Given the description of an element on the screen output the (x, y) to click on. 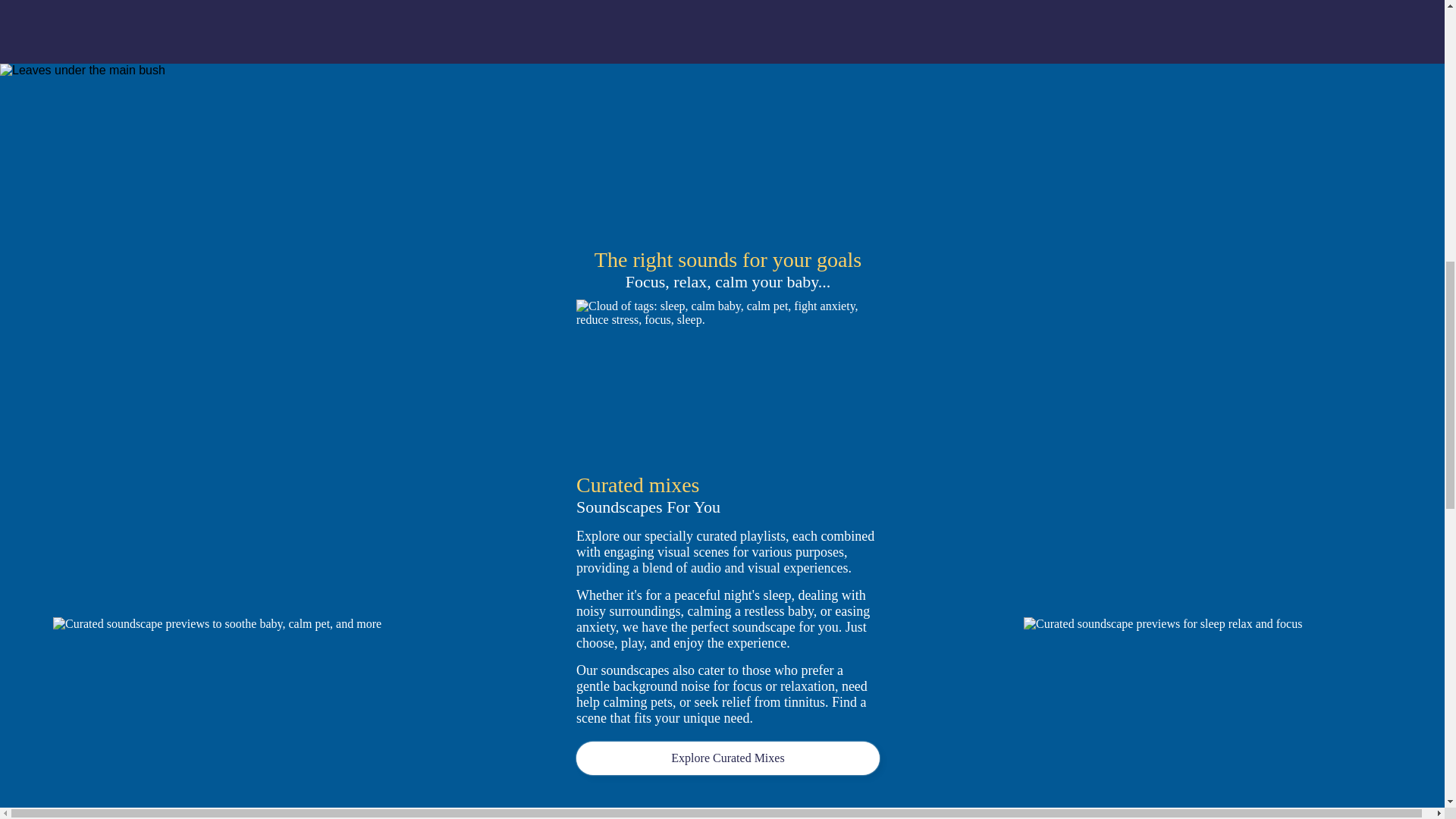
Explore Curated Mixes (727, 758)
